Given the description of an element on the screen output the (x, y) to click on. 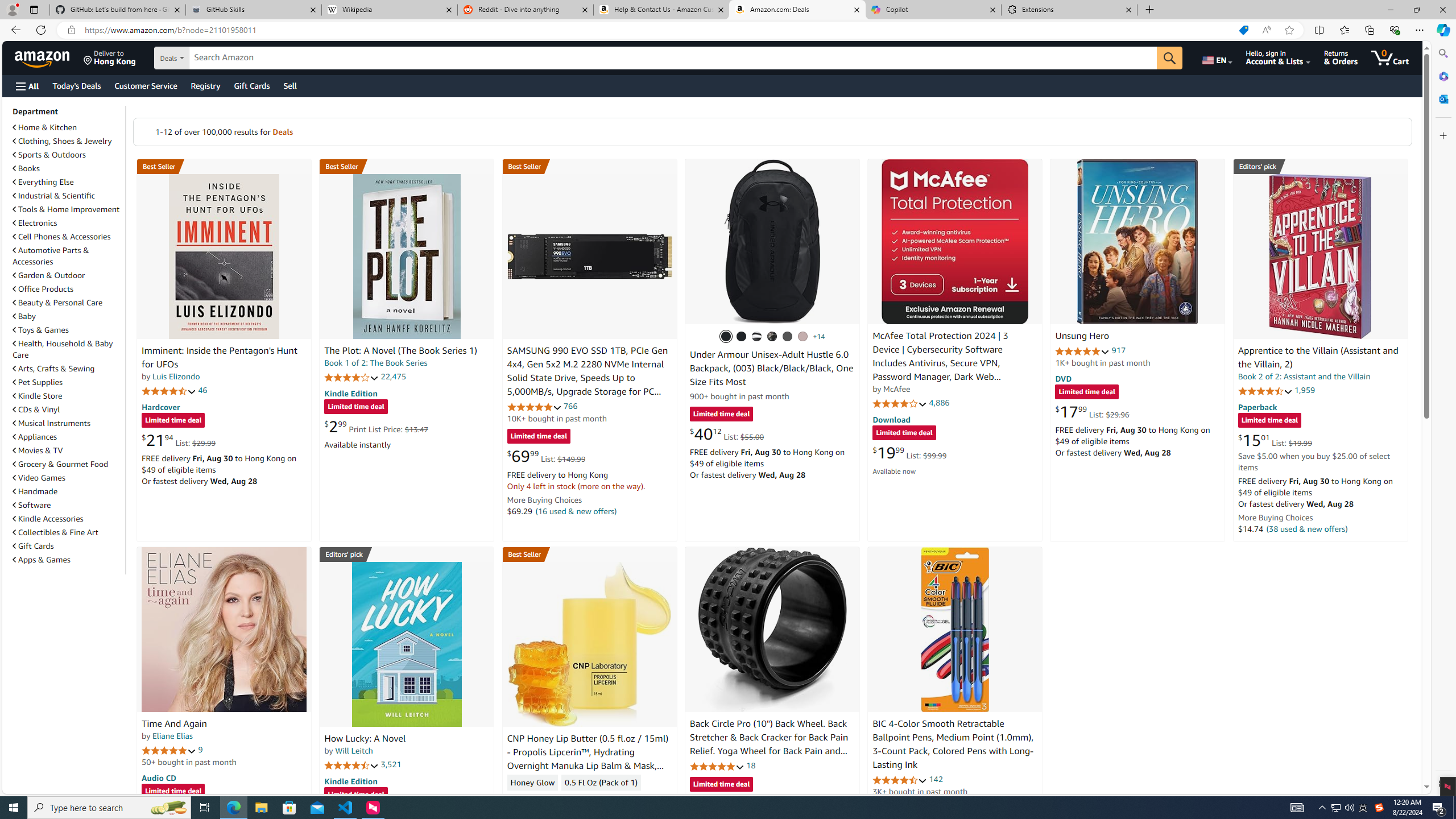
Close (1442, 9)
Arts, Crafts & Sewing (67, 368)
Skip to main content (48, 56)
Search in (210, 58)
Editors' pick Best Mystery, Thriller & Suspense (406, 553)
Video Games (39, 477)
(004) Black / Black / Metallic Gold (772, 336)
Books (26, 167)
CDs & Vinyl (36, 409)
Health, Household & Baby Care (63, 349)
Arts, Crafts & Sewing (53, 368)
